Given the description of an element on the screen output the (x, y) to click on. 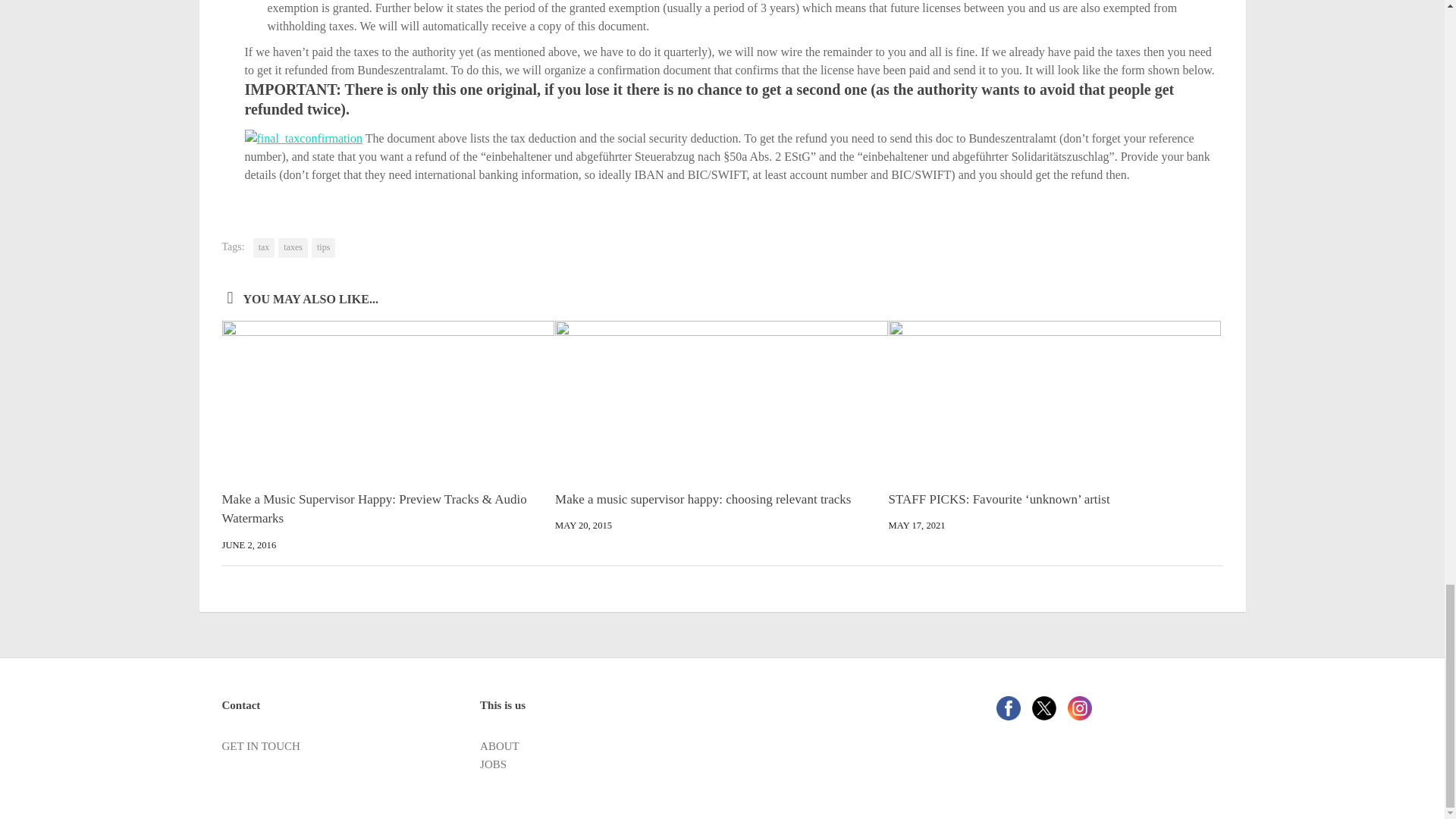
tips (322, 247)
Make a music supervisor happy: choosing relevant tracks (702, 499)
tax (264, 247)
taxes (292, 247)
